Given the description of an element on the screen output the (x, y) to click on. 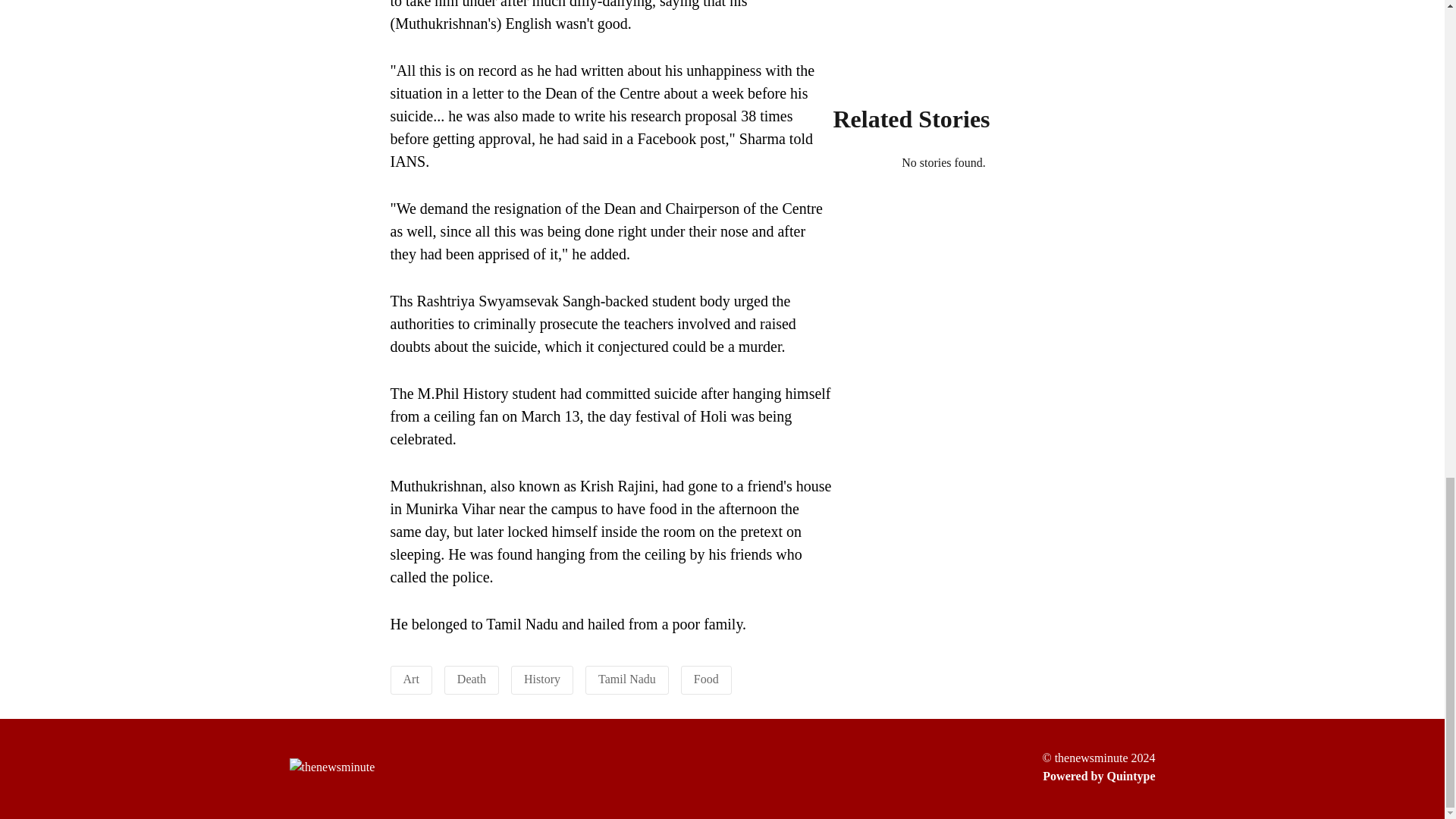
Tamil Nadu (627, 677)
Powered by Quintype (1098, 776)
Death (471, 677)
History (542, 677)
Food (706, 677)
Art (411, 677)
